Given the description of an element on the screen output the (x, y) to click on. 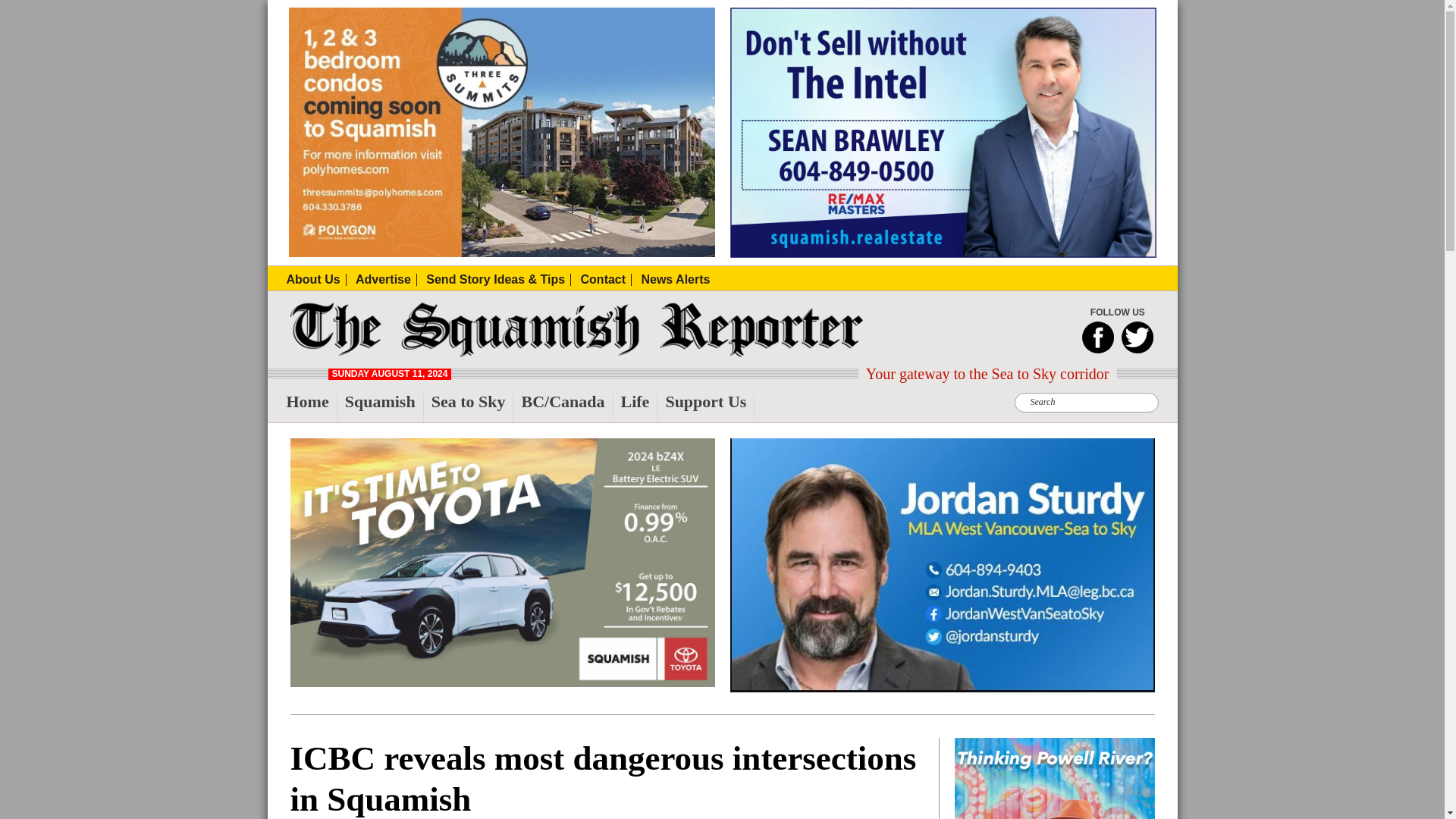
Support Us (709, 407)
Life (639, 407)
Squamish (384, 407)
The Squamish Reporter (321, 352)
Contact (605, 279)
Search (455, 9)
News Alerts (675, 279)
Advertise (385, 279)
Sea to Sky (471, 407)
Home (311, 407)
